Given the description of an element on the screen output the (x, y) to click on. 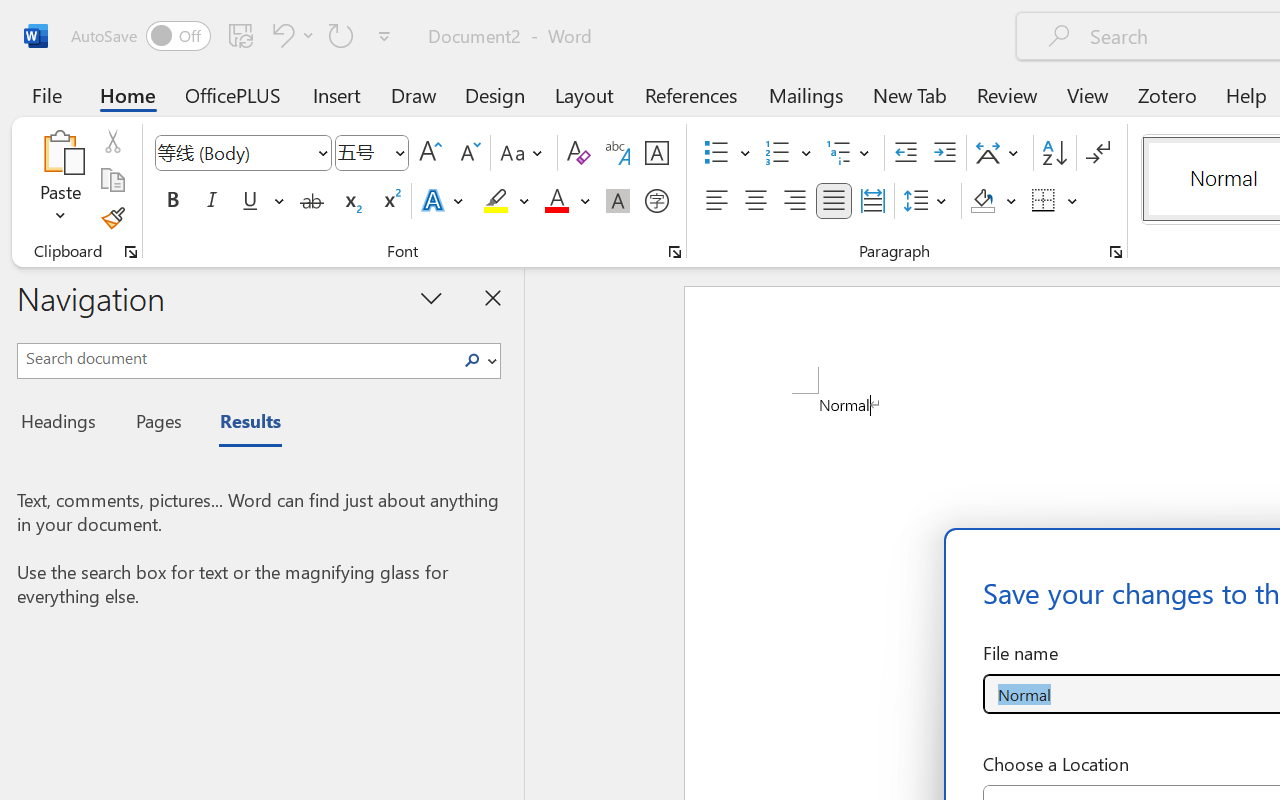
Format Painter (112, 218)
OfficePLUS (233, 94)
Cut (112, 141)
Search (471, 360)
Bullets (716, 153)
Borders (1055, 201)
Shrink Font (468, 153)
Superscript (390, 201)
Home (127, 94)
Center (756, 201)
Distributed (872, 201)
Text Highlight Color (506, 201)
Grow Font (430, 153)
Align Left (716, 201)
Search document (236, 358)
